Given the description of an element on the screen output the (x, y) to click on. 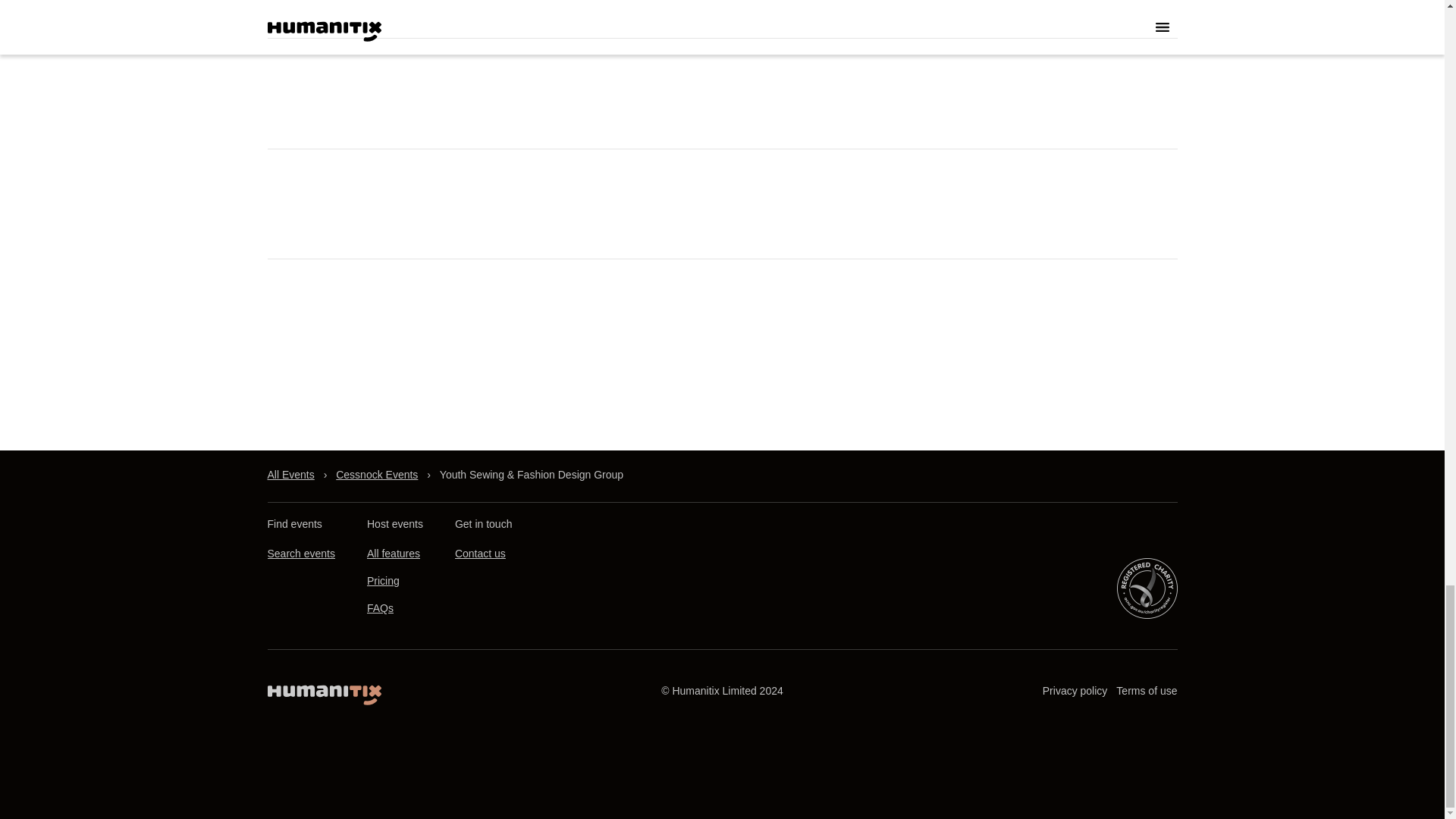
All features (393, 553)
All Events (290, 474)
Search events (300, 553)
Pricing (382, 580)
Cessnock Events (376, 474)
